Given the description of an element on the screen output the (x, y) to click on. 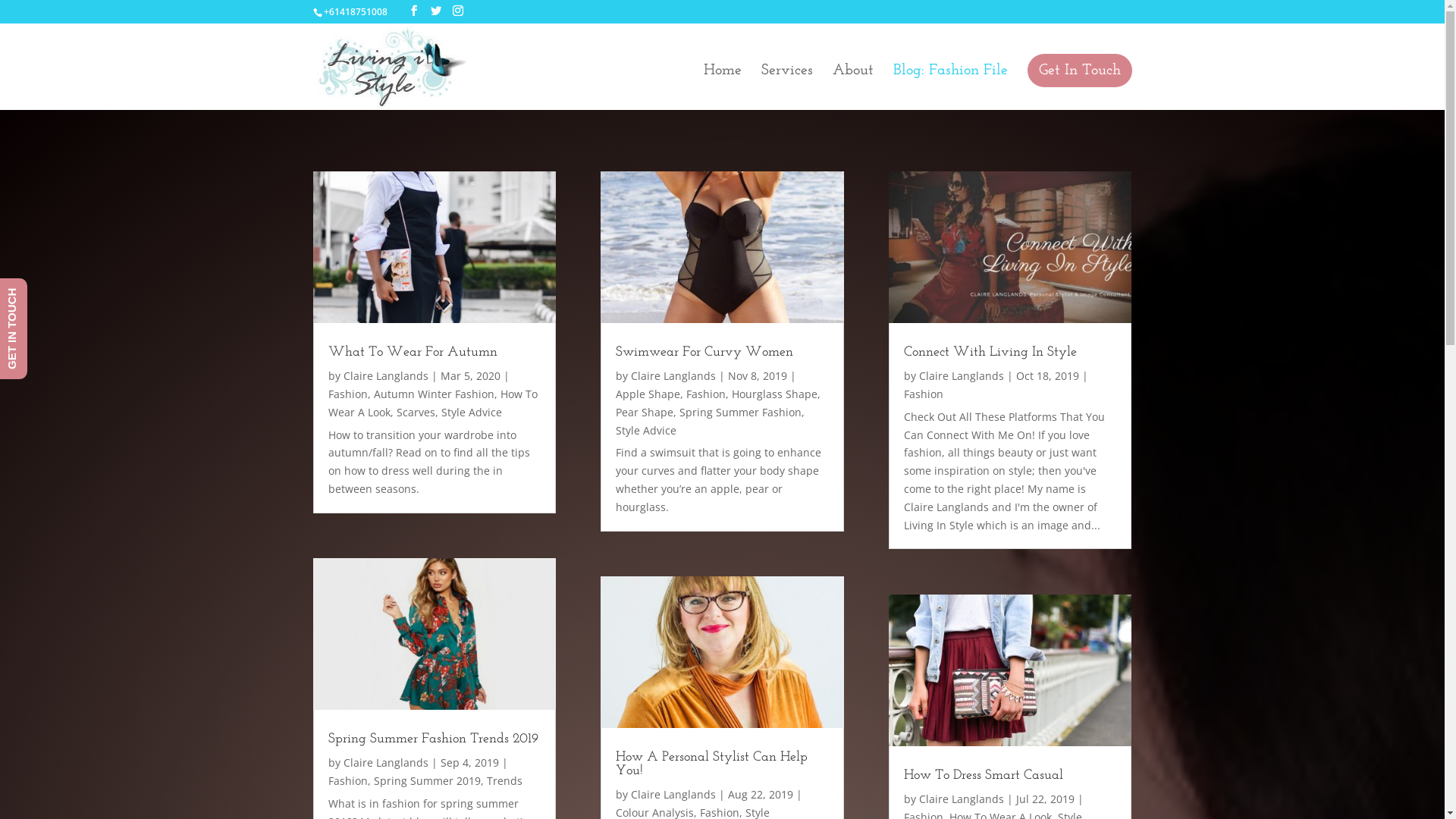
How A Personal Stylist Can Help You! Element type: text (711, 763)
Spring Summer Fashion Trends 2019 Element type: text (432, 738)
About Element type: text (852, 85)
Claire Langlands Element type: text (961, 375)
Autumn Winter Fashion Element type: text (433, 393)
Claire Langlands Element type: text (672, 375)
Style Advice Element type: text (471, 411)
Trends Element type: text (504, 780)
Spring Summer 2019 Element type: text (426, 780)
Fashion Element type: text (923, 393)
Services Element type: text (786, 85)
Fashion Element type: text (347, 393)
Fashion Element type: text (705, 393)
Home Element type: text (722, 85)
Claire Langlands Element type: text (384, 762)
Spring Summer Fashion Element type: text (740, 411)
Get In Touch Element type: text (1078, 70)
Hourglass Shape Element type: text (774, 393)
Blog: Fashion File Element type: text (950, 85)
+61418751008 Element type: text (354, 11)
Apple Shape Element type: text (647, 393)
Connect With Living In Style Element type: text (989, 352)
Claire Langlands Element type: text (961, 798)
Fashion Element type: text (347, 780)
Style Advice Element type: text (645, 430)
Pear Shape Element type: text (644, 411)
How To Wear A Look Element type: text (431, 402)
Swimwear For Curvy Women Element type: text (704, 352)
Claire Langlands Element type: text (672, 794)
Claire Langlands Element type: text (384, 375)
What To Wear For Autumn Element type: text (411, 352)
How To Dress Smart Casual Element type: text (983, 775)
Scarves Element type: text (414, 411)
